Given the description of an element on the screen output the (x, y) to click on. 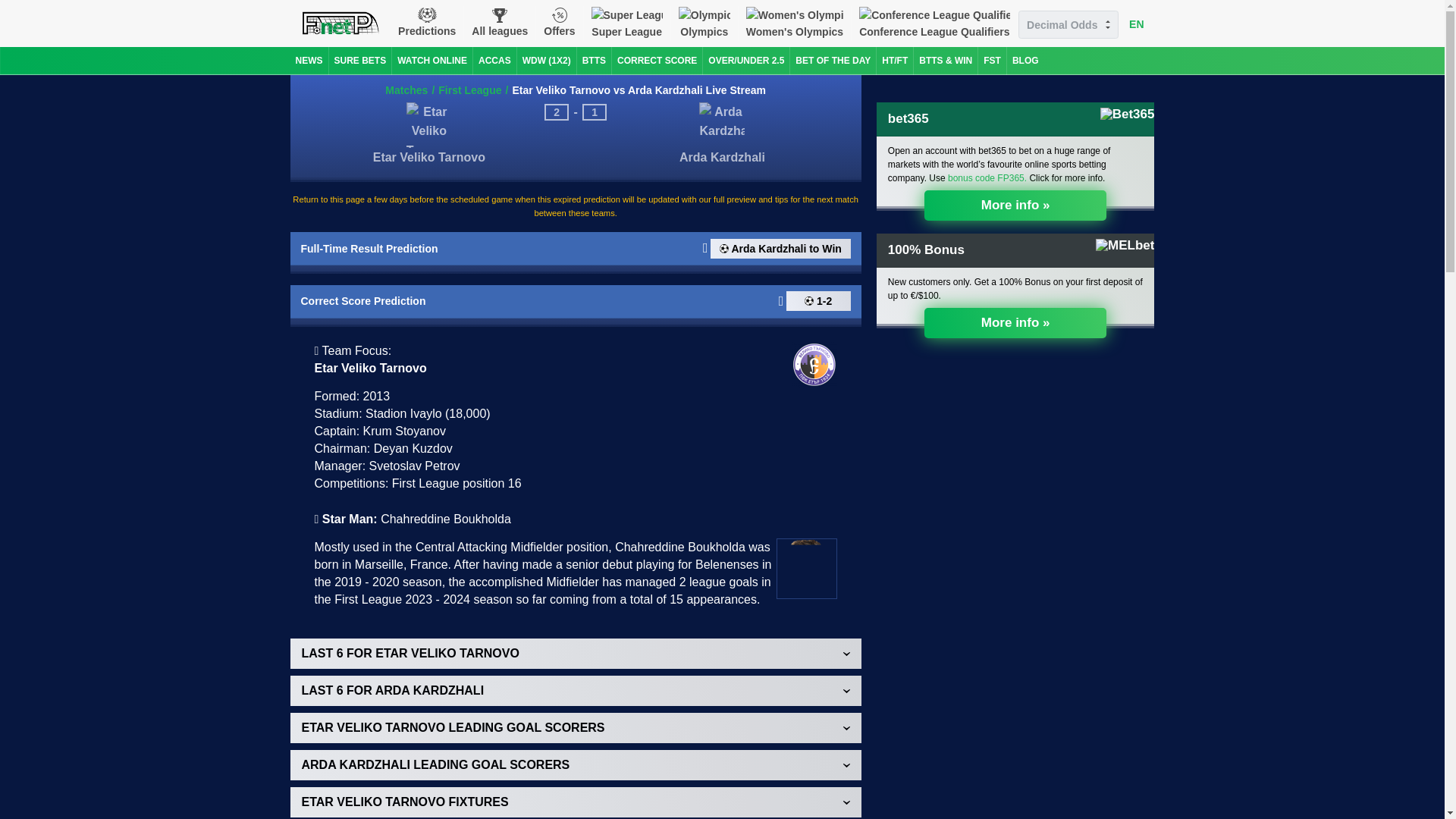
BLOG (1025, 60)
Etar Veliko Tarnovo (428, 172)
FST (992, 60)
SURE BETS (360, 60)
Arda Kardzhali (722, 174)
LAST 6 FOR ETAR VELIKO TARNOVO (574, 653)
All leagues (499, 22)
First League (469, 90)
BET OF THE DAY (833, 60)
Olympics (704, 22)
LAST 6 FOR ARDA KARDZHALI (574, 690)
NEWS (308, 60)
Matches (406, 90)
WATCH ONLINE (431, 60)
Super League (626, 22)
